Given the description of an element on the screen output the (x, y) to click on. 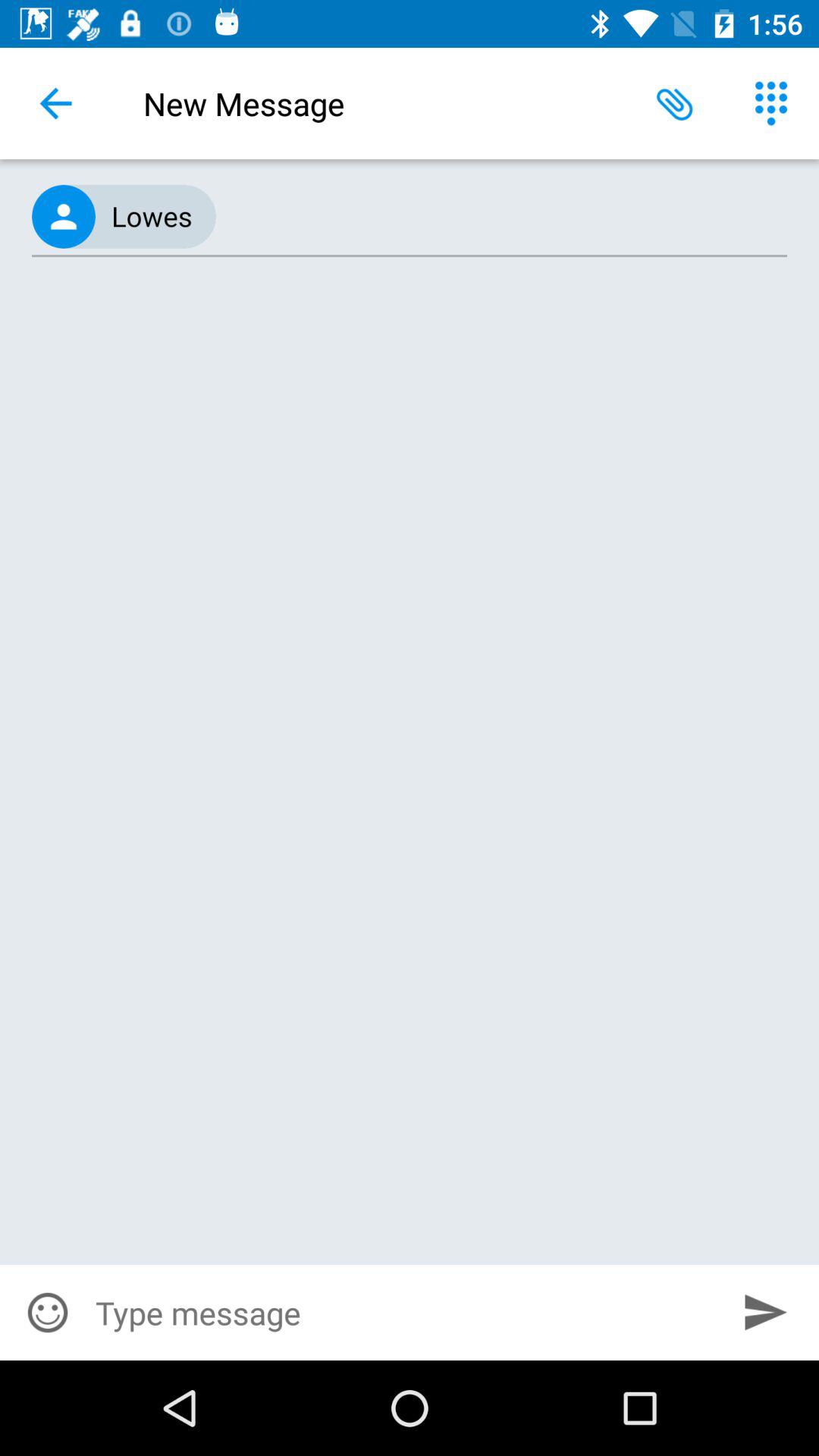
select icon above (415) 486-8611,  item (675, 103)
